Given the description of an element on the screen output the (x, y) to click on. 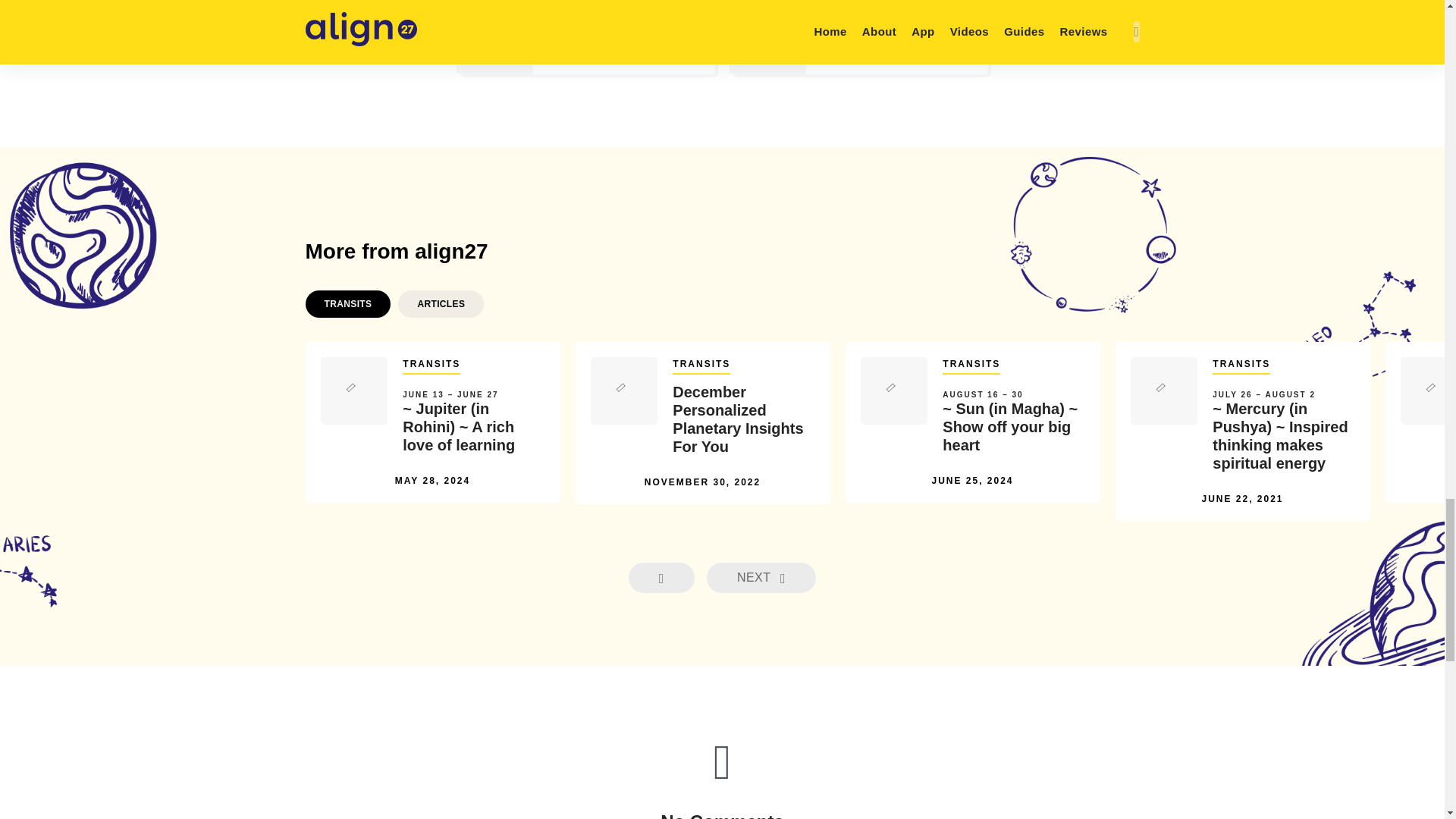
TRANSITS (347, 303)
December Personalized Planetary Insights For You (742, 419)
TRANSITS (971, 366)
TRANSITS (701, 366)
TRANSITS (431, 366)
ARTICLES (440, 303)
